Given the description of an element on the screen output the (x, y) to click on. 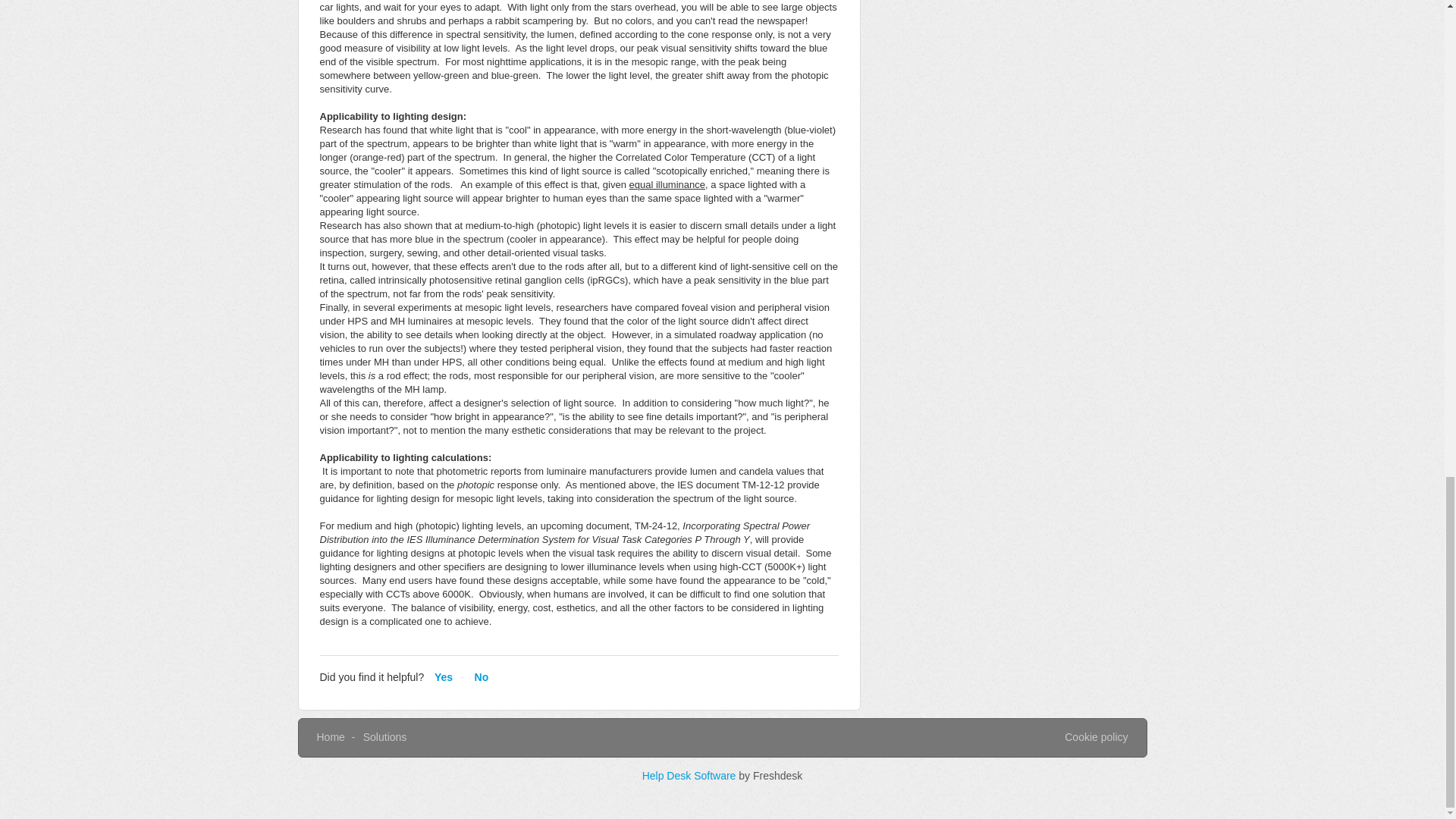
Solutions (384, 736)
Cookie policy (1095, 737)
Why we love Cookies (1095, 737)
Help Desk Software (690, 775)
Home (331, 736)
